Given the description of an element on the screen output the (x, y) to click on. 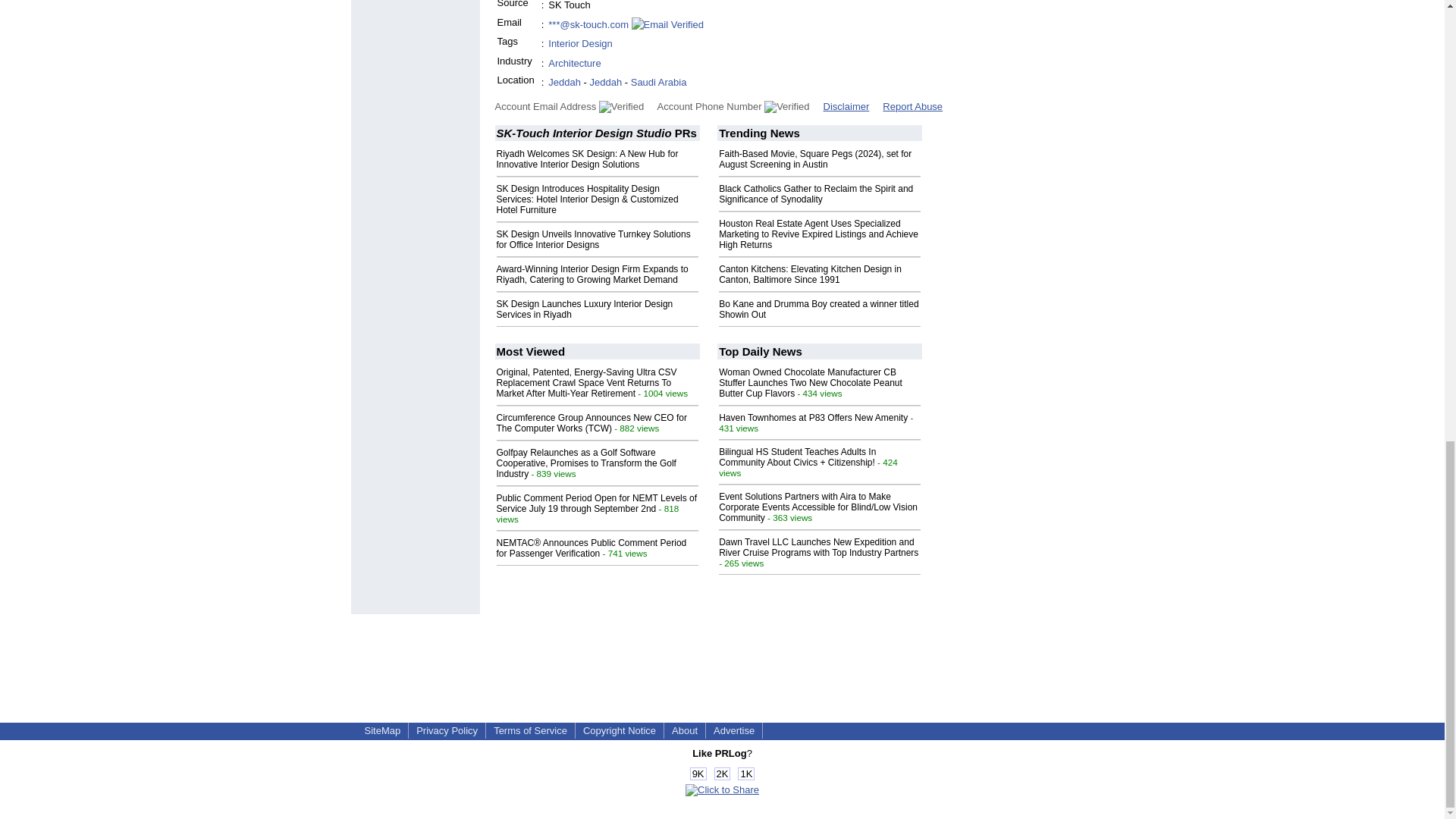
Share this page! (721, 789)
Verified (786, 106)
Verified (620, 106)
Email Verified (667, 24)
